Given the description of an element on the screen output the (x, y) to click on. 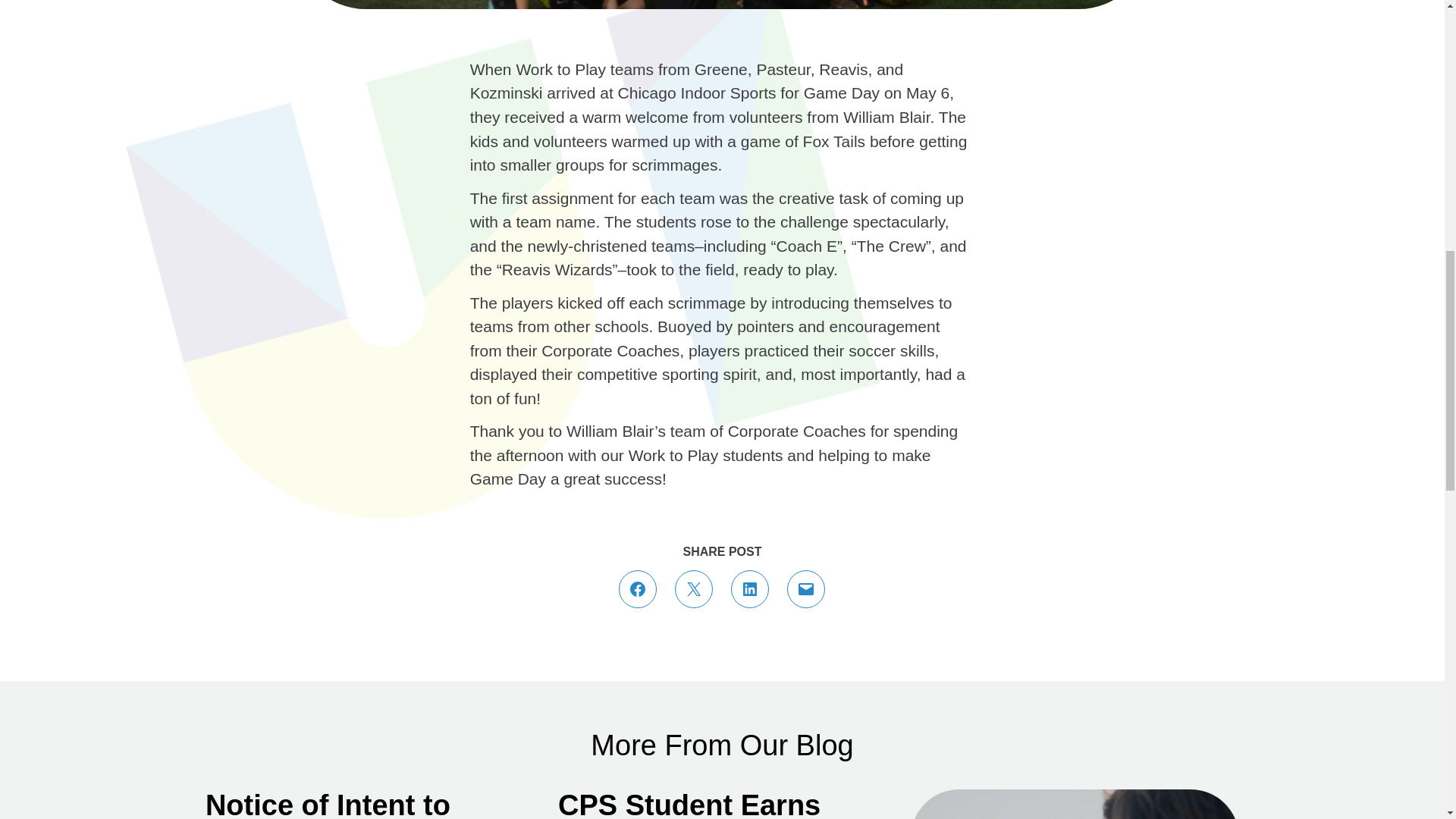
email post to friend or colleague (805, 588)
share post on facebook (637, 588)
share post on linked in (749, 588)
share post on twitter (693, 588)
